Given the description of an element on the screen output the (x, y) to click on. 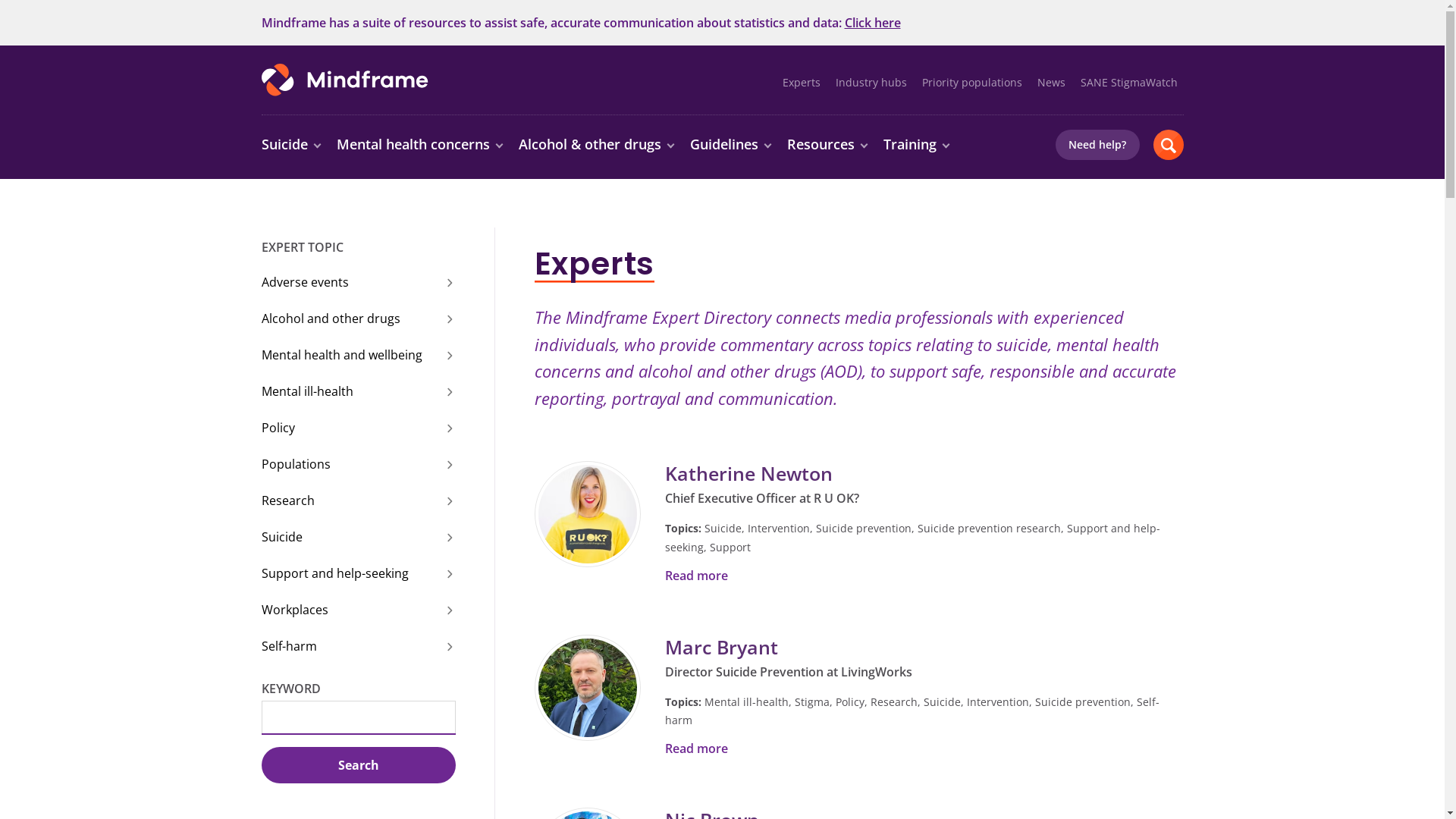
Workplaces Element type: text (357, 609)
Training Element type: text (916, 144)
Suicide Element type: text (357, 536)
Mental health concerns Element type: text (420, 144)
Suicide Element type: text (291, 144)
Self-harm Element type: text (357, 645)
Katherine Newton Element type: text (747, 473)
Read more Element type: text (695, 575)
Search Element type: text (357, 764)
Support and help-seeking Element type: text (357, 572)
Mental ill-health Element type: text (357, 390)
SANE StigmaWatch Element type: text (1127, 82)
Read more Element type: text (695, 748)
Guidelines Element type: text (731, 144)
Alcohol & other drugs Element type: text (597, 144)
Mental health and wellbeing Element type: text (357, 354)
Need help? Element type: text (1097, 144)
Alcohol and other drugs Element type: text (357, 318)
Industry hubs Element type: text (870, 82)
Experts Element type: text (801, 82)
News Element type: text (1051, 82)
Marc Bryant Element type: text (720, 646)
Populations Element type: text (357, 463)
Resources Element type: text (828, 144)
Policy Element type: text (357, 427)
Adverse events Element type: text (357, 281)
Priority populations Element type: text (972, 82)
Research Element type: text (357, 500)
